Given the description of an element on the screen output the (x, y) to click on. 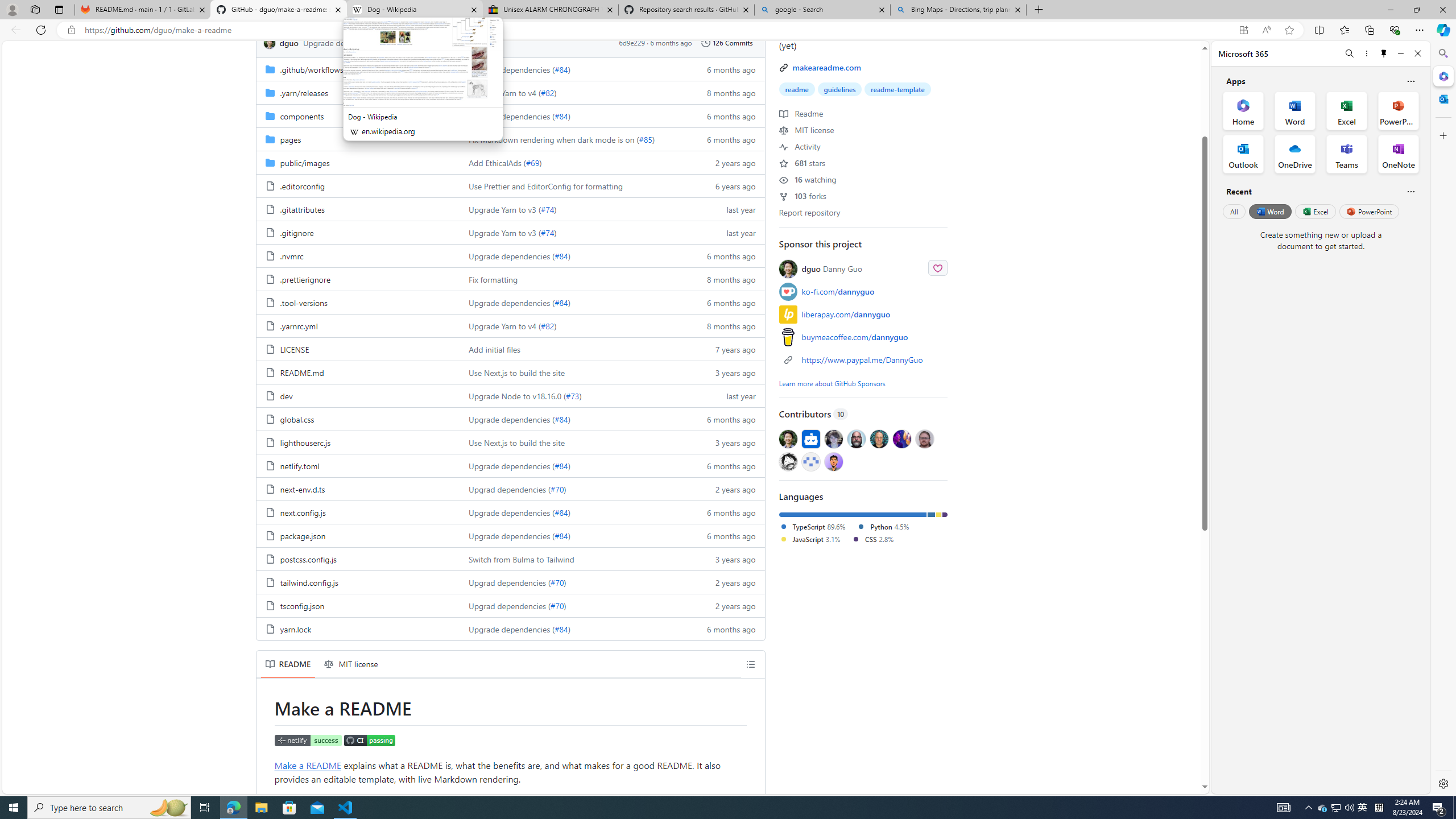
AutomationID: folder-row-23 (510, 604)
Switch from Bulma to Tailwind (521, 559)
CI status (368, 740)
Copilot (Ctrl+Shift+.) (1442, 29)
https://www.paypal.me/DannyGuo (862, 359)
Is this helpful? (1410, 191)
@mstrzele (809, 461)
Split screen (1318, 29)
buymeacoffee.com/dannyguo (854, 337)
Fix formatting (493, 279)
126 Commits (726, 42)
Teams Office App (1346, 154)
Make a README (306, 764)
Sponsor @dguo (937, 267)
